Given the description of an element on the screen output the (x, y) to click on. 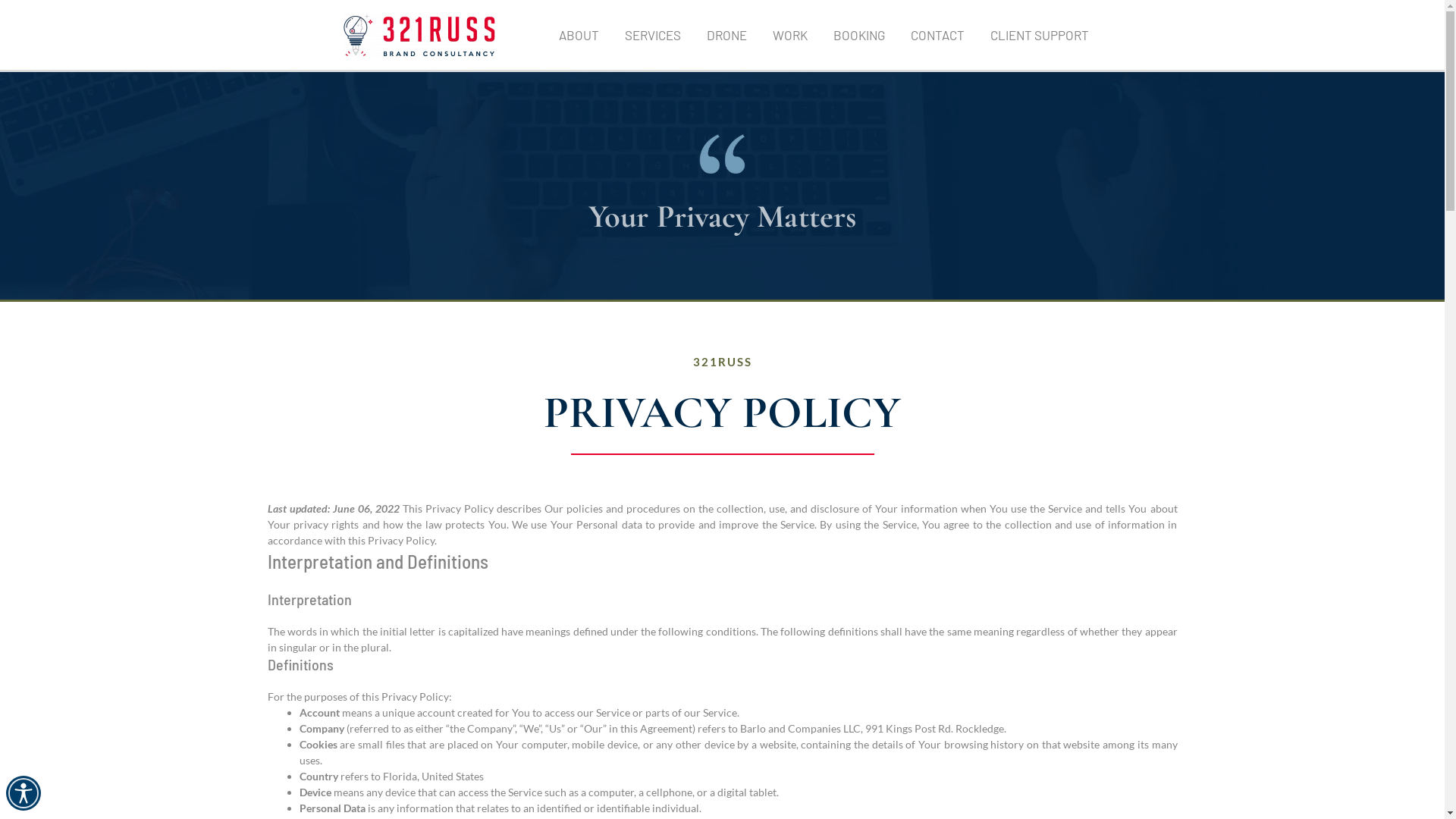
WORK Element type: text (789, 34)
DRONE Element type: text (726, 34)
CLIENT SUPPORT Element type: text (1038, 34)
CONTACT Element type: text (937, 34)
BOOKING Element type: text (858, 34)
SERVICES Element type: text (652, 34)
ABOUT Element type: text (578, 34)
